Given the description of an element on the screen output the (x, y) to click on. 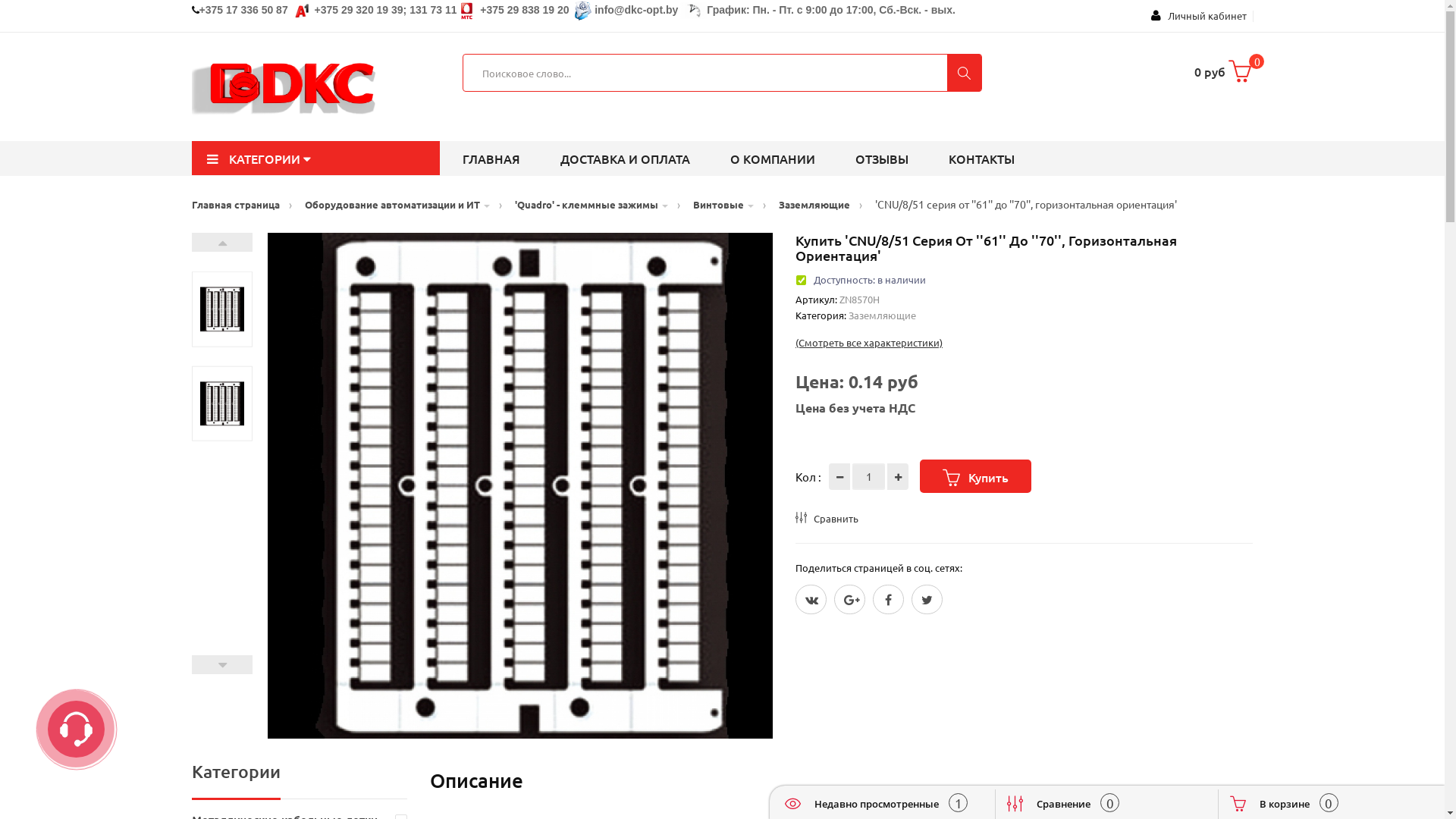
Next Element type: text (221, 241)
Facebook Element type: hover (887, 599)
Twitter Element type: hover (926, 599)
Twitter Element type: hover (810, 599)
Prev Element type: text (221, 664)
Google Plus Element type: hover (849, 599)
